Given the description of an element on the screen output the (x, y) to click on. 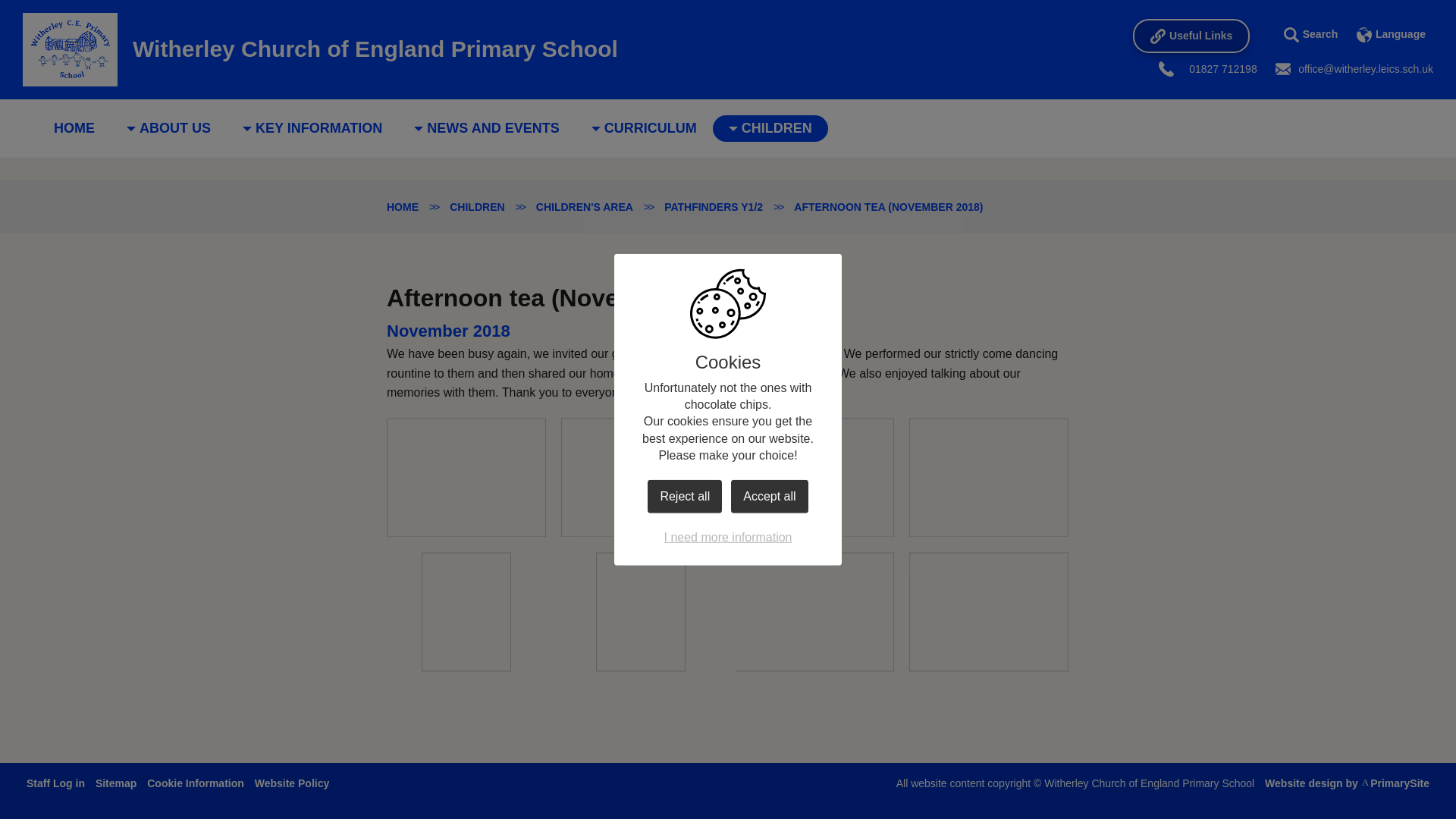
01827 712198 (1218, 68)
KEY INFORMATION (312, 128)
ABOUT US (168, 128)
Home Page (70, 49)
HOME (73, 128)
